Given the description of an element on the screen output the (x, y) to click on. 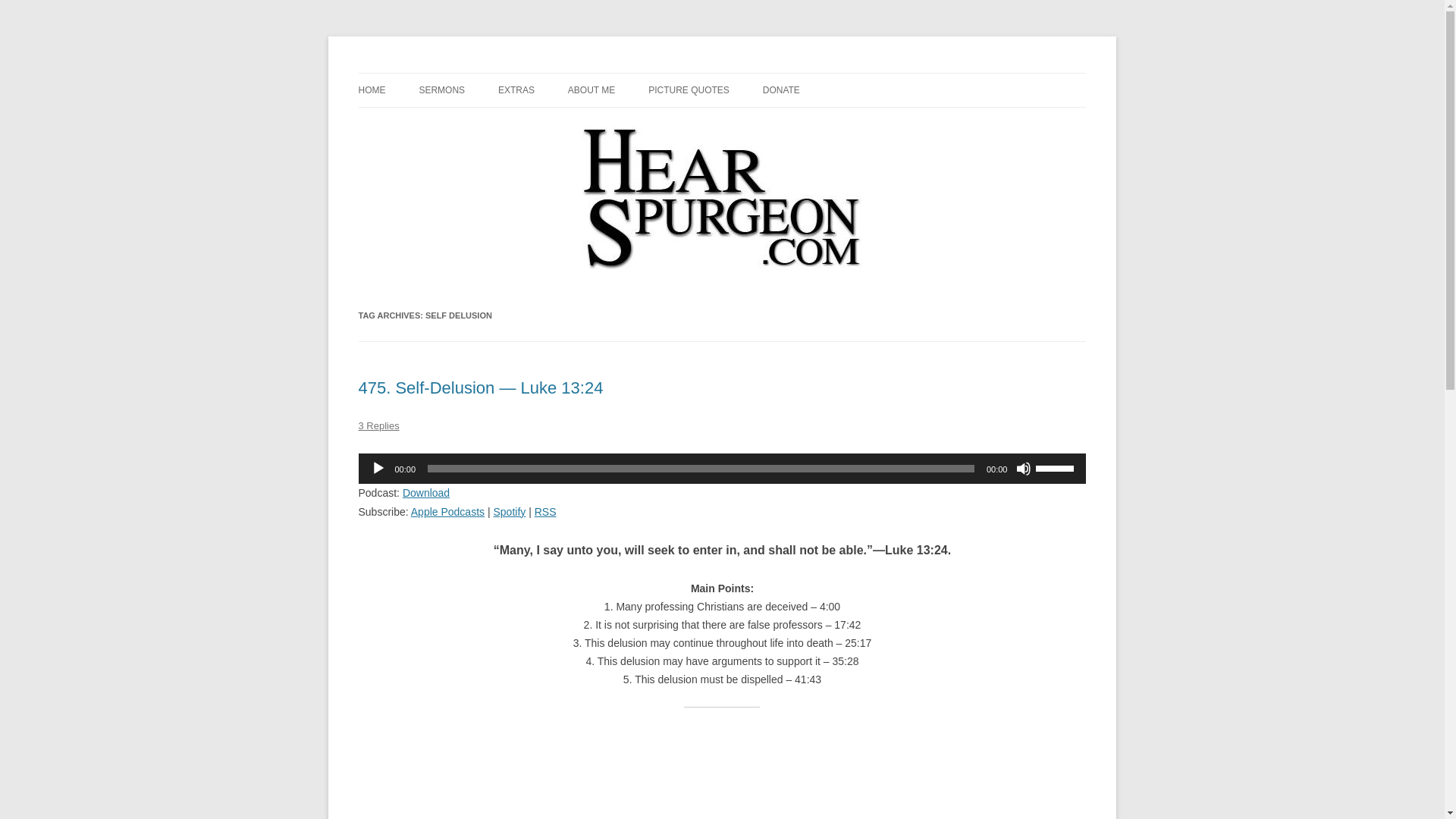
Hear Spurgeon (428, 72)
Subscribe on Spotify (509, 511)
Mute (1023, 468)
Download (426, 492)
3 Replies (378, 425)
Subscribe on Apple Podcasts (447, 511)
Subscribe via RSS (545, 511)
Apple Podcasts (447, 511)
YouTube video player (721, 772)
ABOUT ME (590, 90)
